Given the description of an element on the screen output the (x, y) to click on. 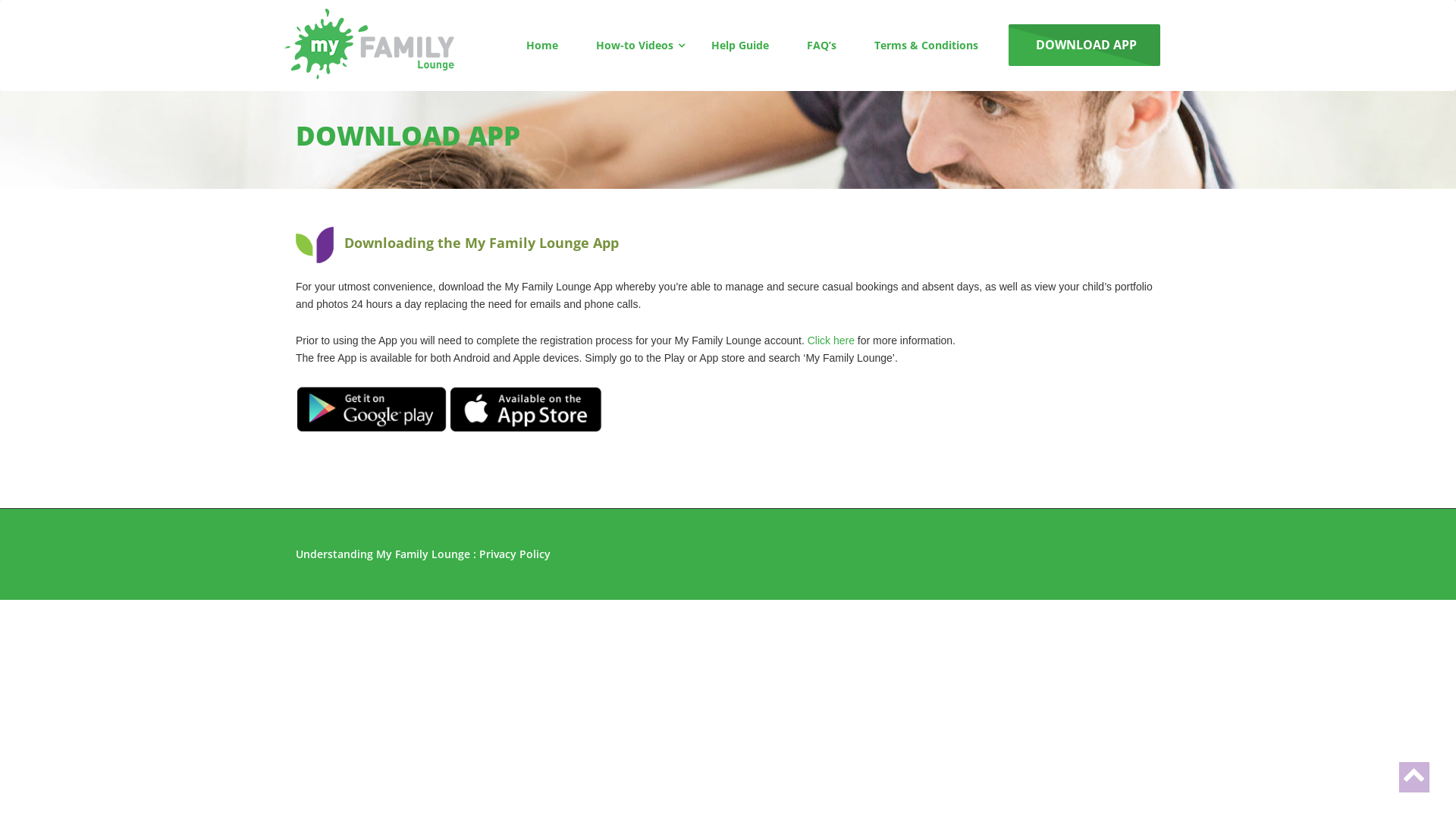
Understanding My Family Lounge : Element type: text (387, 553)
Help Guide Element type: text (739, 45)
Privacy Policy Element type: text (514, 553)
DOWNLOAD APP Element type: text (1084, 44)
Click here Element type: text (830, 340)
Home Element type: text (542, 45)
Terms & Conditions Element type: text (926, 45)
How-to Videos Element type: text (634, 45)
